Given the description of an element on the screen output the (x, y) to click on. 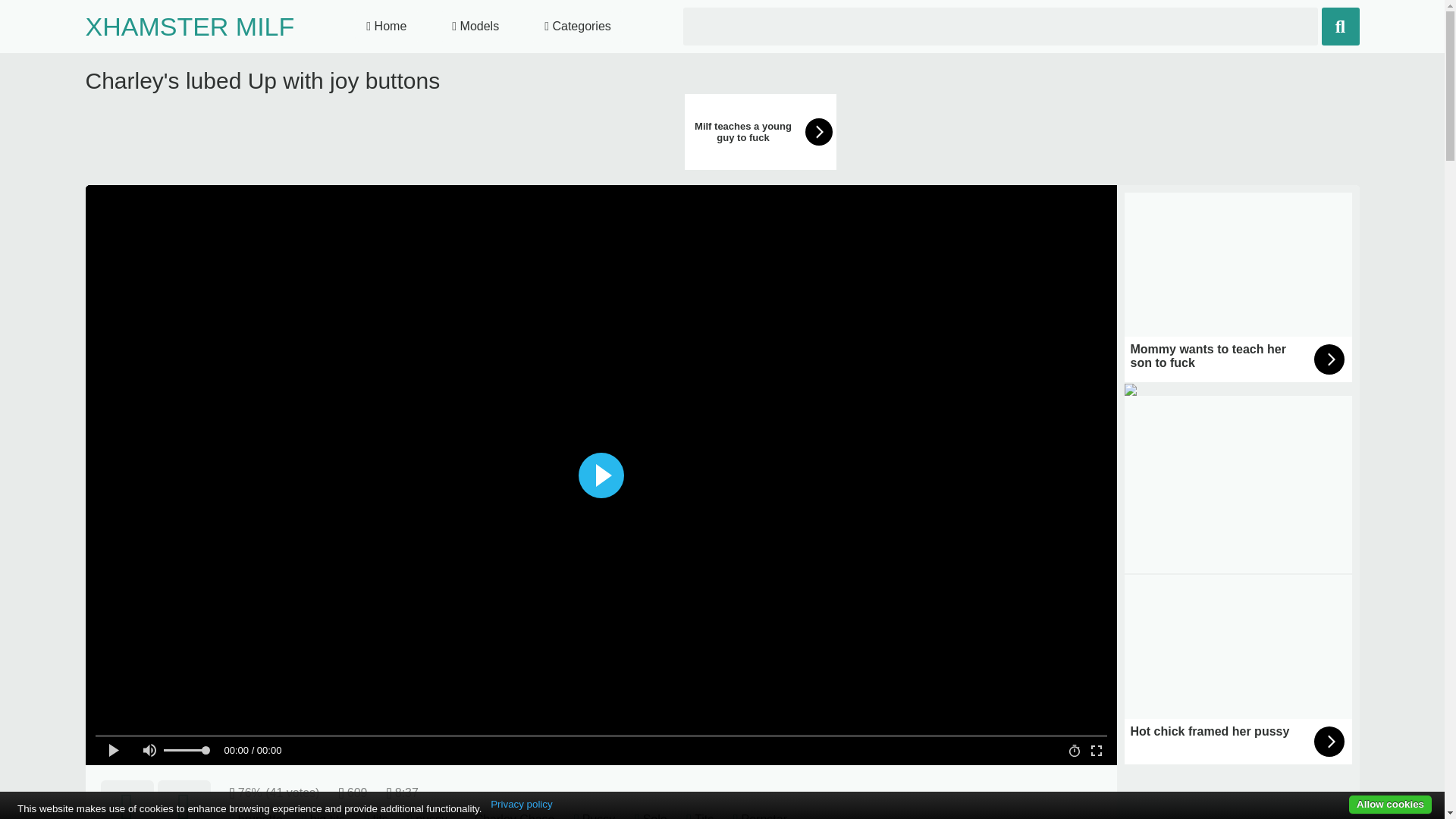
Models (476, 26)
Pussy (598, 816)
tits (379, 816)
Search (1339, 26)
Home (386, 26)
pussy (430, 816)
Charley Chase (514, 816)
Like! (126, 799)
Mommy wants to teach her son to fuck (1237, 287)
Dislike! (184, 799)
